Given the description of an element on the screen output the (x, y) to click on. 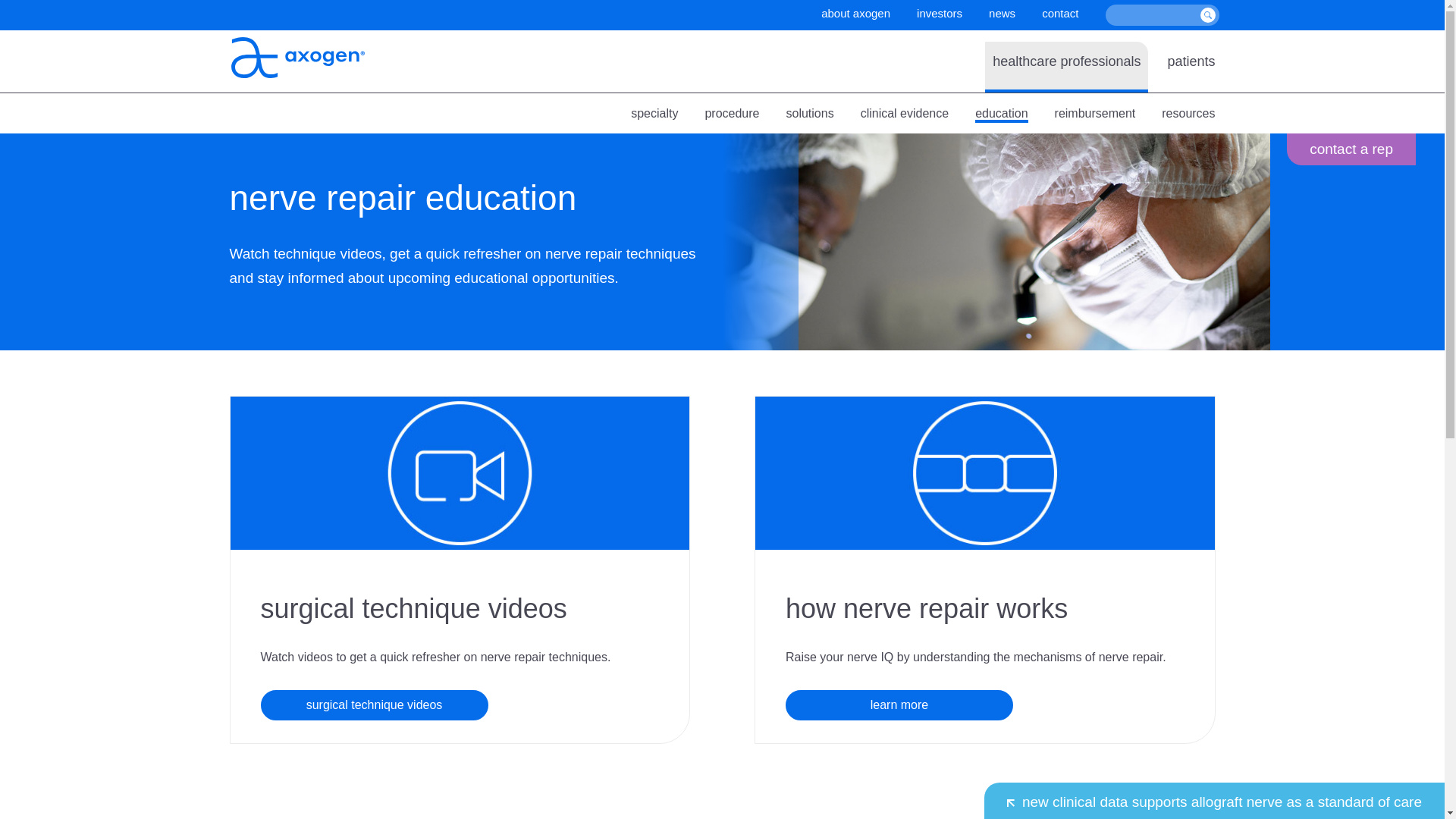
investors (939, 12)
news (1001, 12)
contact (1060, 12)
healthcare professionals (1066, 61)
about axogen (855, 12)
